Given the description of an element on the screen output the (x, y) to click on. 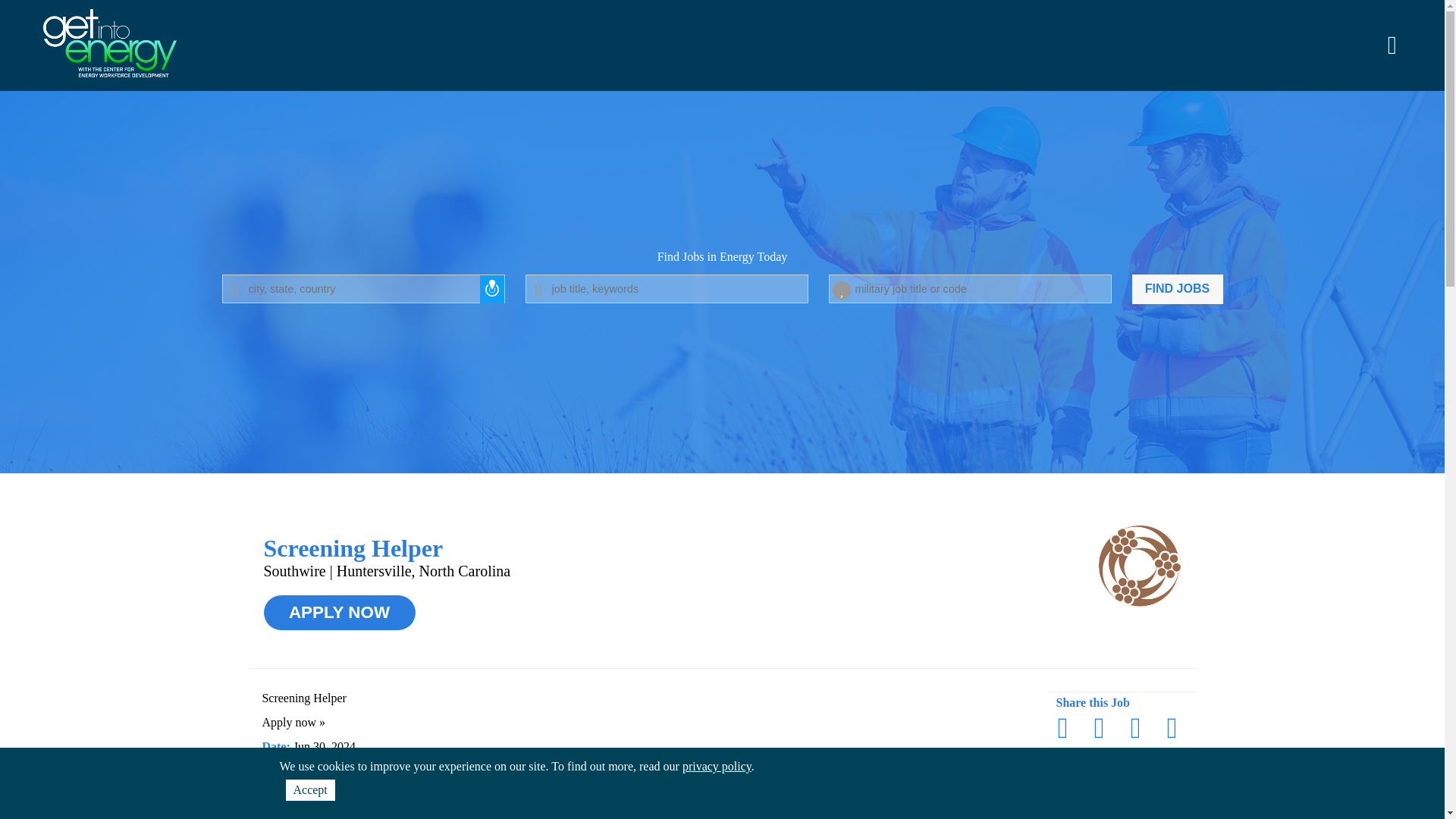
APPLY NOW (338, 612)
Search MOC (970, 288)
Facebook (1062, 727)
SHARE WITH MESSENGER (1062, 727)
Search Location (363, 288)
LinkedIn (1098, 727)
privacy policy (716, 766)
Search Phrase (666, 288)
Mobile navigation menu (1391, 45)
FIND JOBS (1177, 288)
EMAIL THIS JOB (1171, 727)
Email (1171, 727)
Accept (309, 789)
Twitter (1135, 727)
radius search (491, 289)
